Given the description of an element on the screen output the (x, y) to click on. 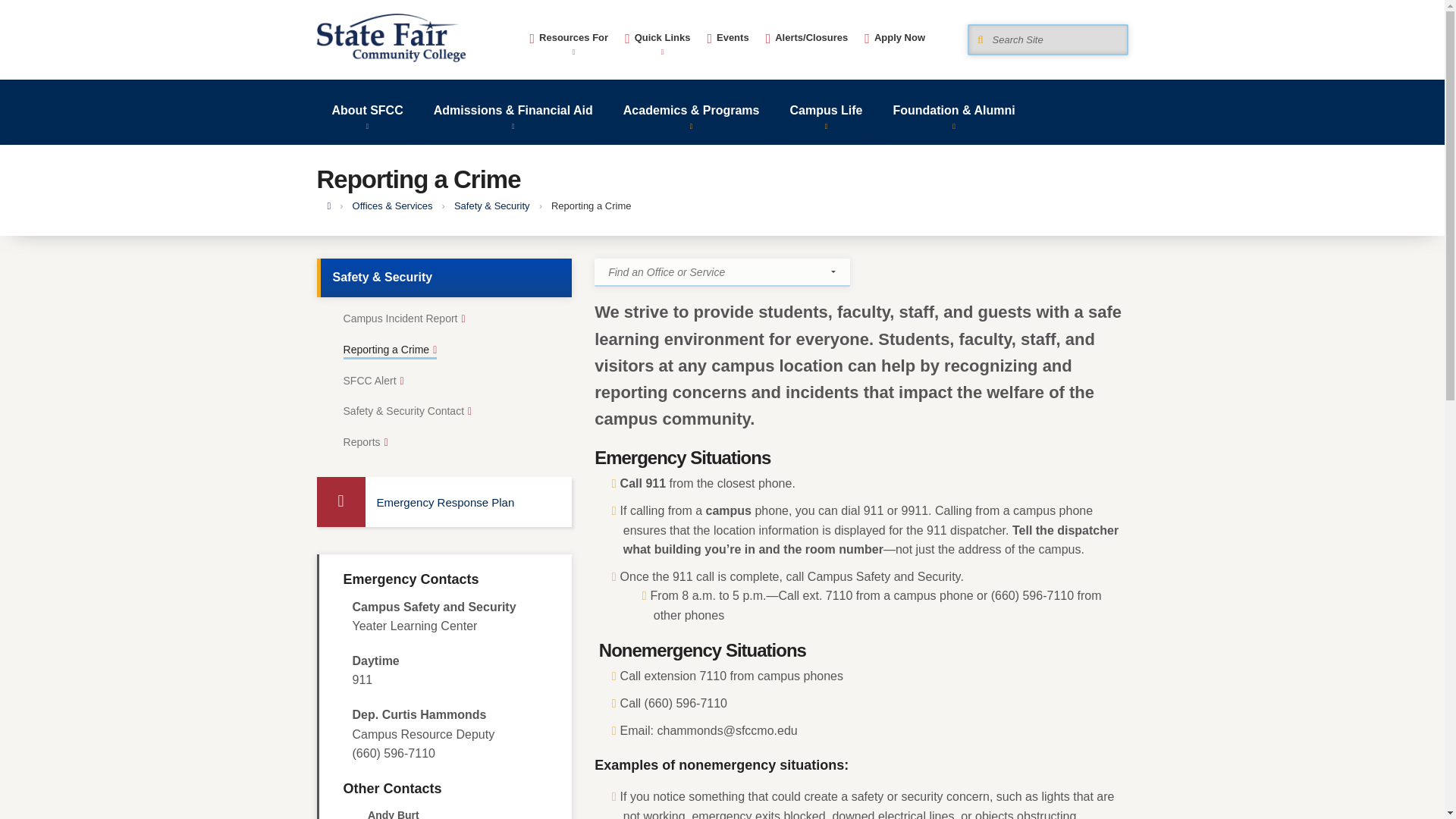
Search for: (1047, 39)
Apply Now (894, 29)
Resources For (568, 35)
Search (989, 62)
Resources For (568, 35)
Quick Links (657, 35)
Quick Links (657, 35)
